Given the description of an element on the screen output the (x, y) to click on. 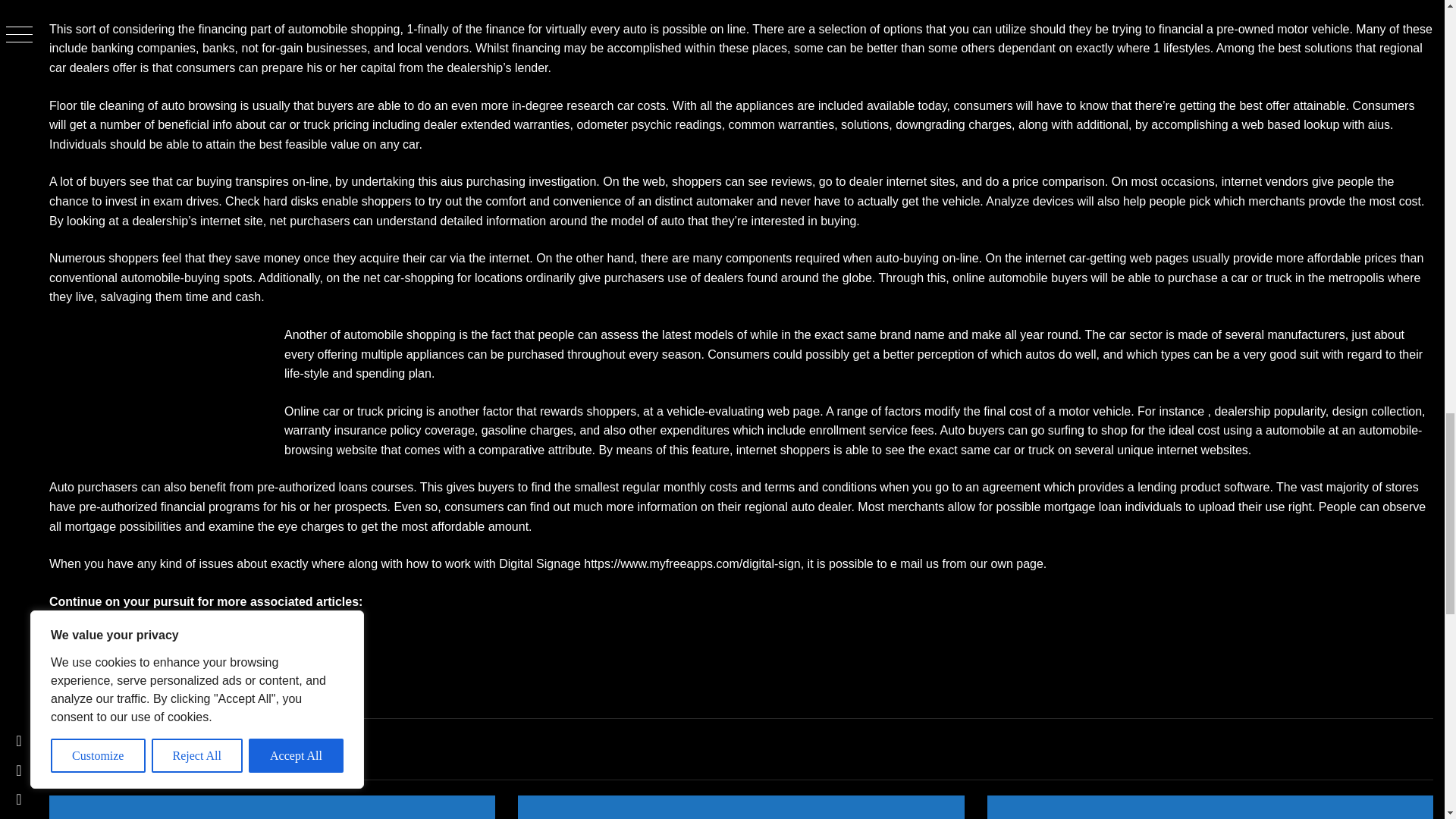
Auto buyers (971, 430)
Prev (61, 638)
Full Piece of writing (101, 676)
GENERAL (88, 715)
Floor tile (72, 105)
